Given the description of an element on the screen output the (x, y) to click on. 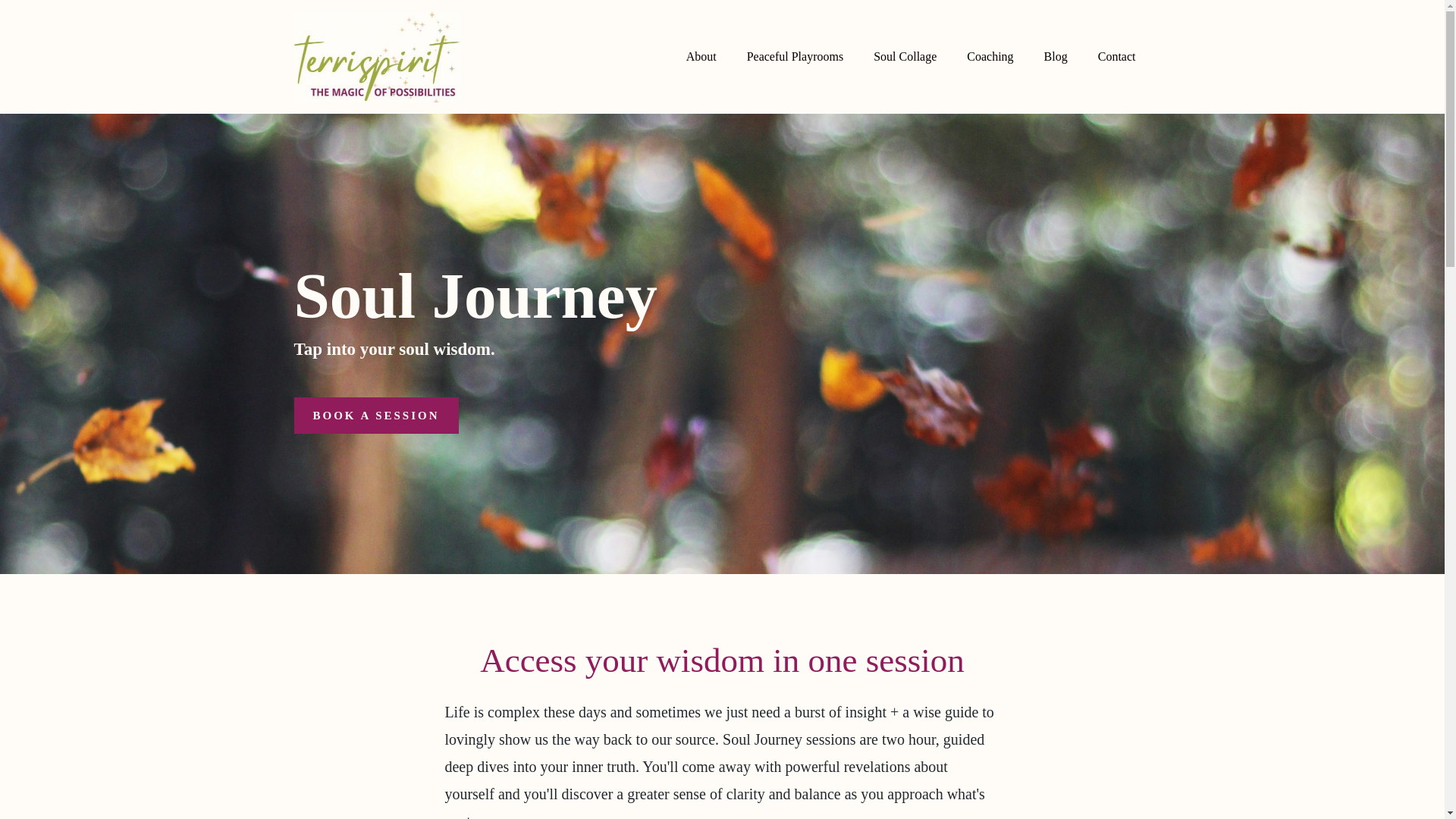
Contact (1117, 56)
Coaching (989, 56)
BOOK A SESSION (376, 415)
Blog (1056, 56)
About (701, 56)
Soul Collage (905, 56)
Peaceful Playrooms (795, 56)
